Given the description of an element on the screen output the (x, y) to click on. 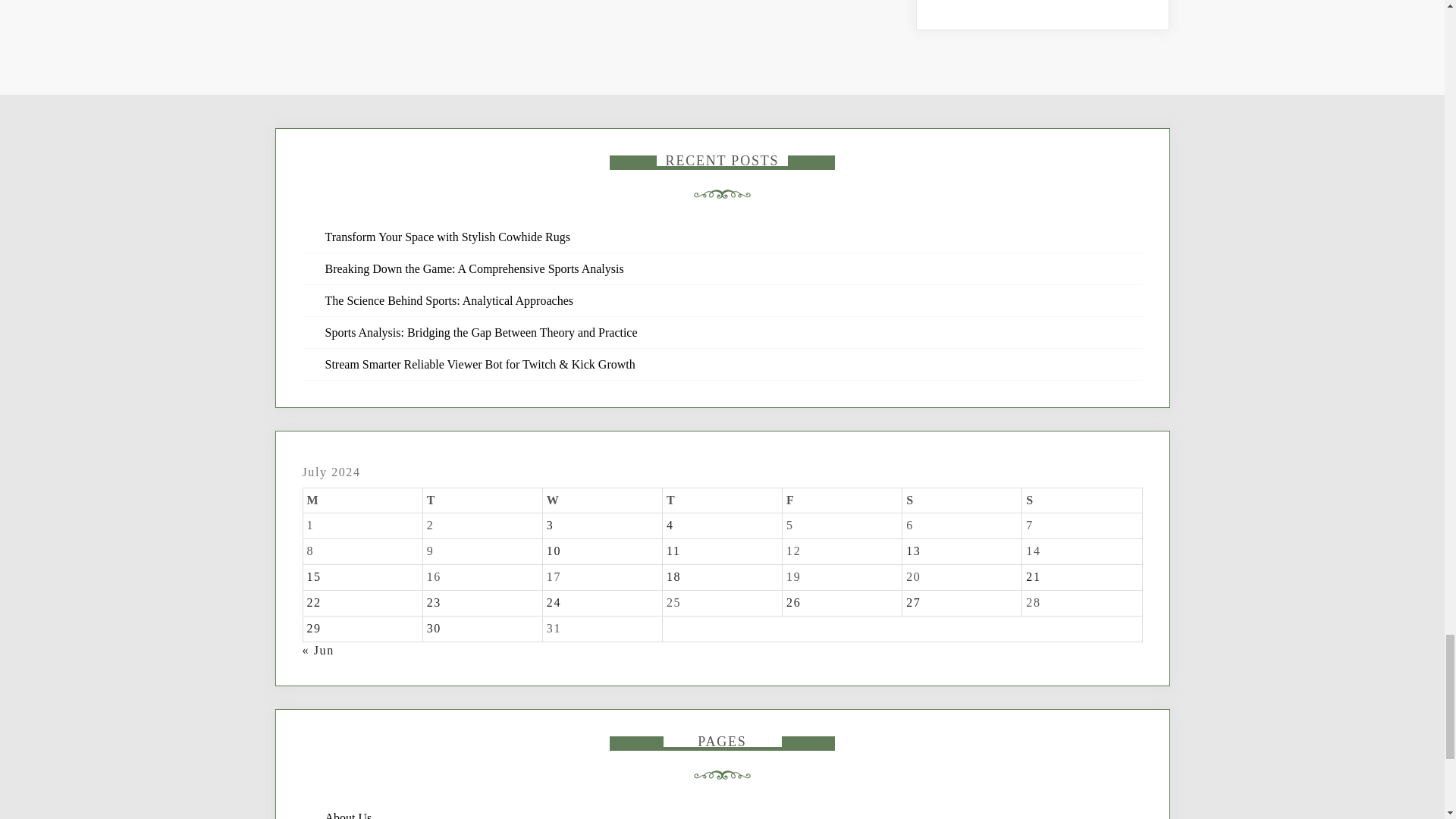
Wednesday (601, 500)
Tuesday (481, 500)
Monday (362, 500)
Thursday (721, 500)
Sunday (1081, 500)
Friday (842, 500)
Saturday (962, 500)
